Given the description of an element on the screen output the (x, y) to click on. 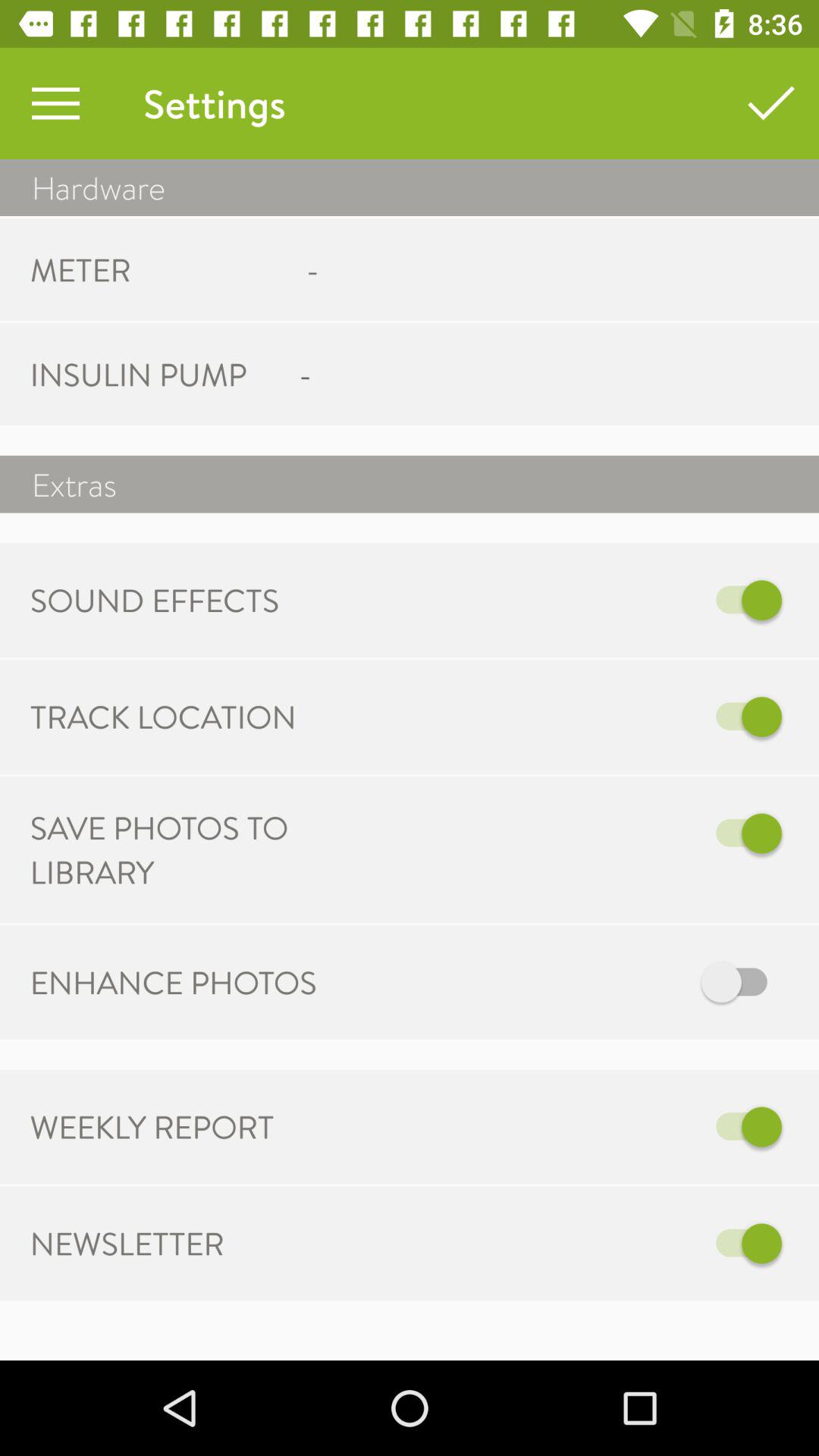
switch off weekly report (566, 1126)
